Given the description of an element on the screen output the (x, y) to click on. 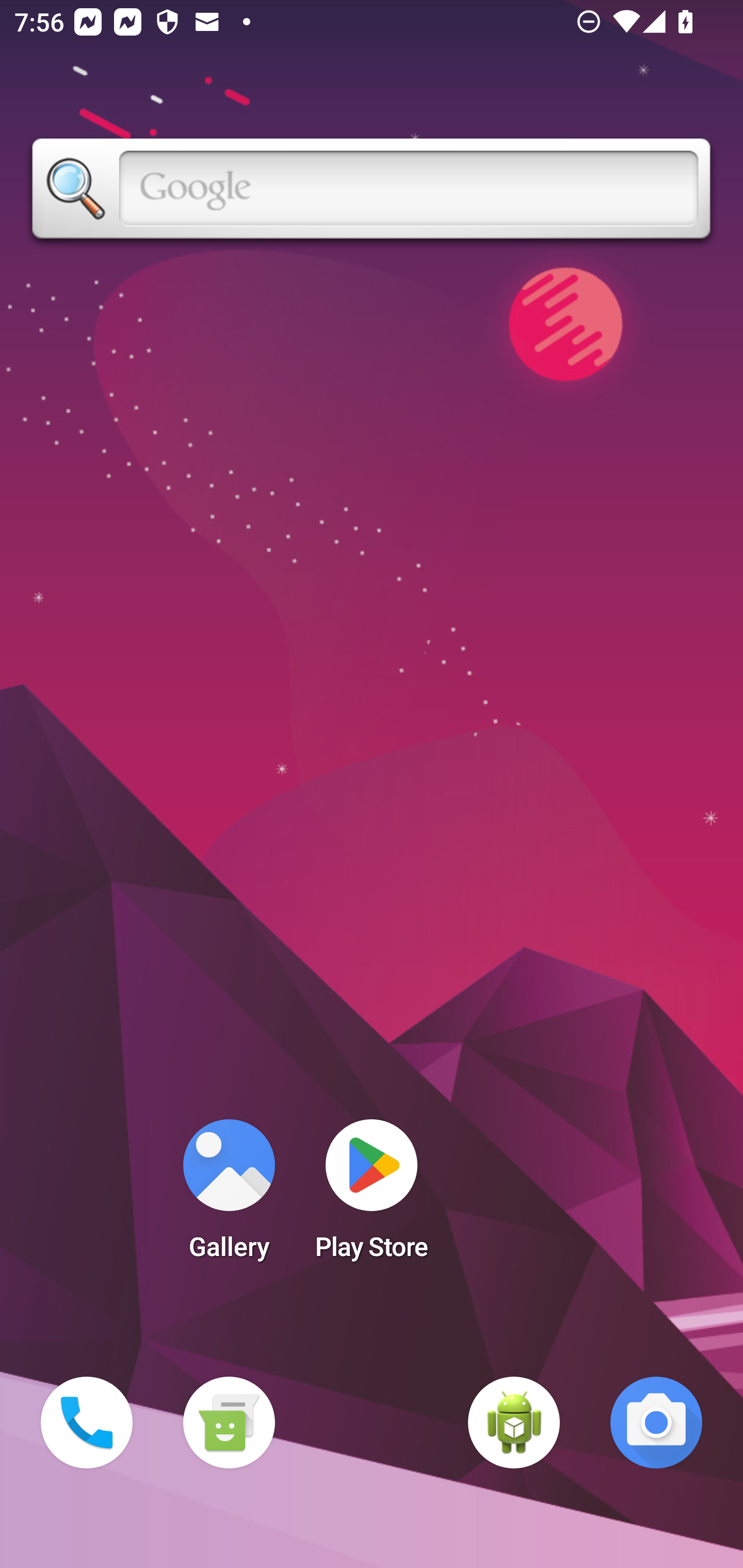
Gallery (228, 1195)
Play Store (371, 1195)
Phone (86, 1422)
Messaging (228, 1422)
WebView Browser Tester (513, 1422)
Camera (656, 1422)
